Given the description of an element on the screen output the (x, y) to click on. 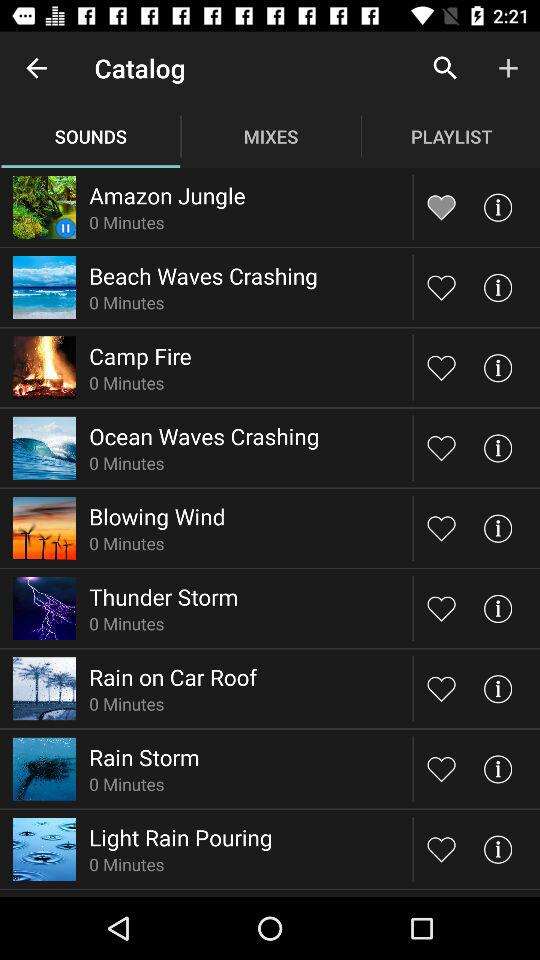
unfavorite song (441, 206)
